Given the description of an element on the screen output the (x, y) to click on. 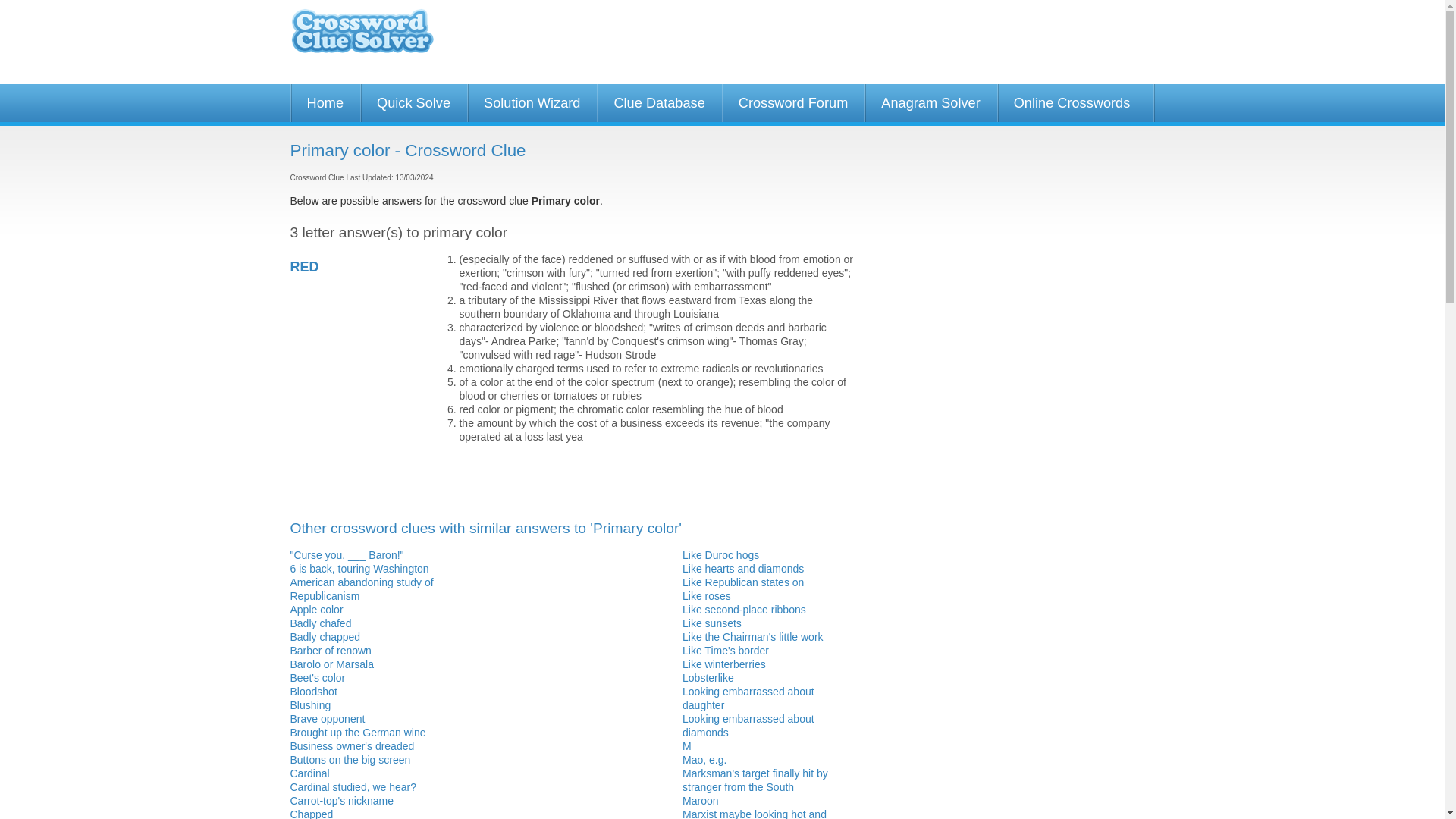
Cardinal (309, 773)
Beet's color (317, 677)
Crossword Forum (793, 103)
Chapped (311, 813)
Online Crosswords (1072, 103)
Brave opponent (327, 718)
Brought up the German wine (357, 732)
Bloodshot (312, 691)
Crossword Clue Solver - The Crossword Solver (361, 37)
Barber of renown (330, 650)
Business owner's dreaded (351, 746)
Badly chapped (324, 636)
Clue Database (658, 103)
Anagram Solver (929, 103)
Barolo or Marsala (331, 664)
